Given the description of an element on the screen output the (x, y) to click on. 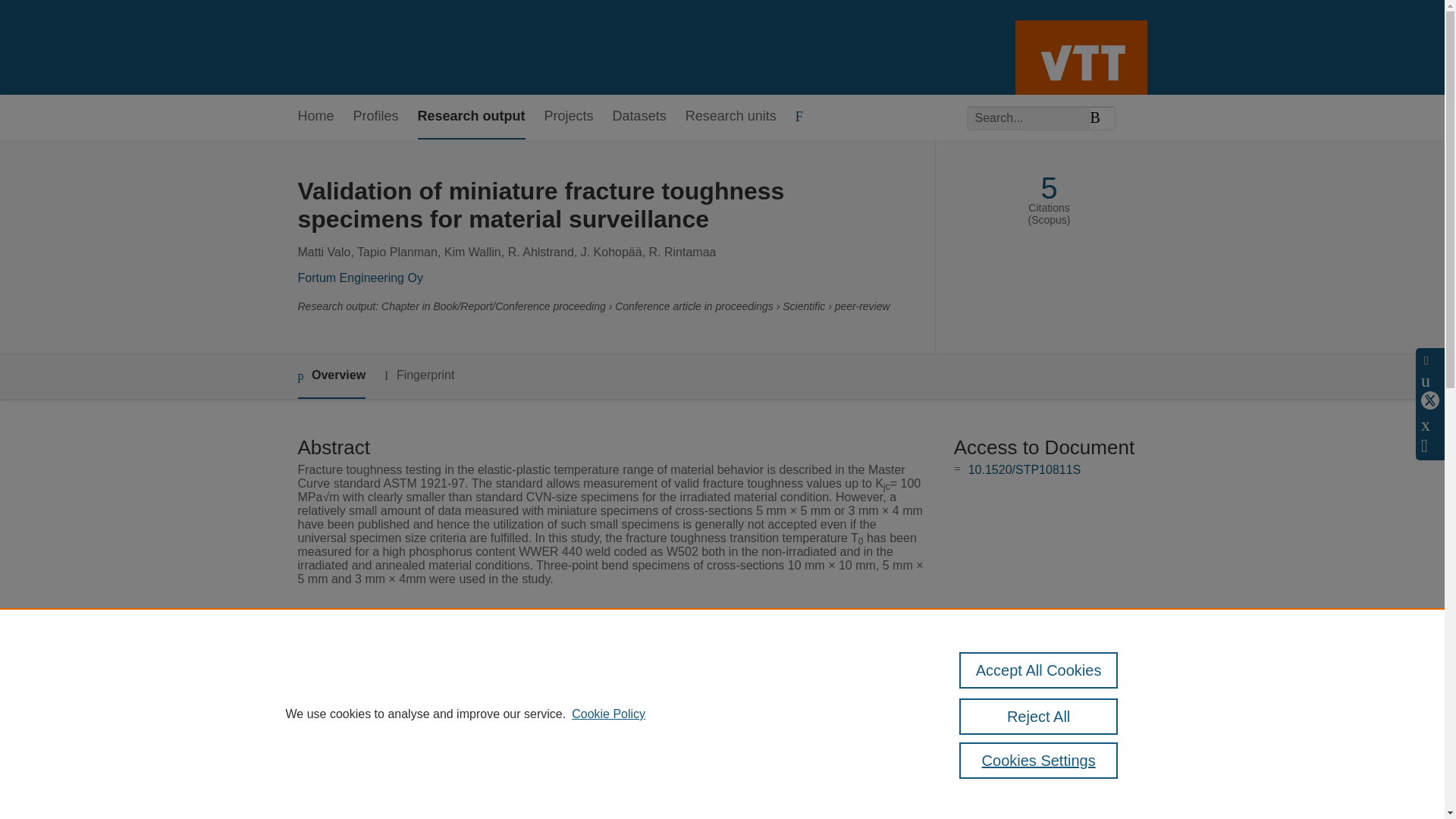
4th Symposium on Small Specimen Test Technique (642, 809)
Research units (730, 117)
VTT's Research Information Portal Home (322, 47)
Research output (471, 117)
Profiles (375, 117)
Overview (331, 375)
Projects (569, 117)
Datasets (639, 117)
Fingerprint (419, 375)
